Given the description of an element on the screen output the (x, y) to click on. 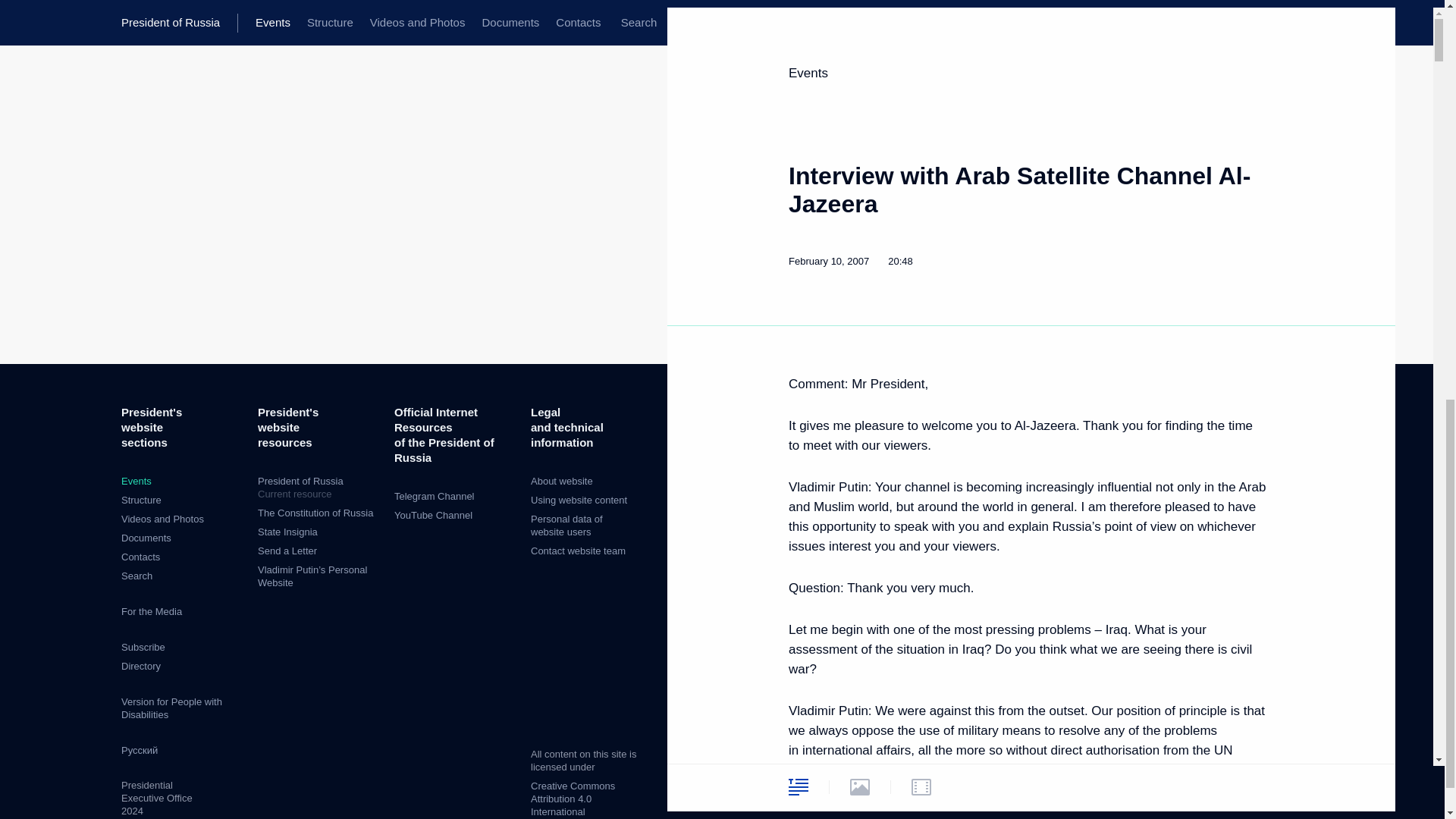
Send a Letter (287, 550)
Subscribe (142, 646)
For the Media (151, 611)
Search (136, 575)
The Constitution of Russia (314, 512)
Contact website team (578, 550)
Creative Commons Attribution 4.0 International (572, 798)
Events (135, 480)
Documents (317, 487)
Videos and Photos (145, 537)
YouTube Channel (161, 518)
About website (432, 514)
Contacts (561, 480)
Version for People with Disabilities (140, 556)
